Given the description of an element on the screen output the (x, y) to click on. 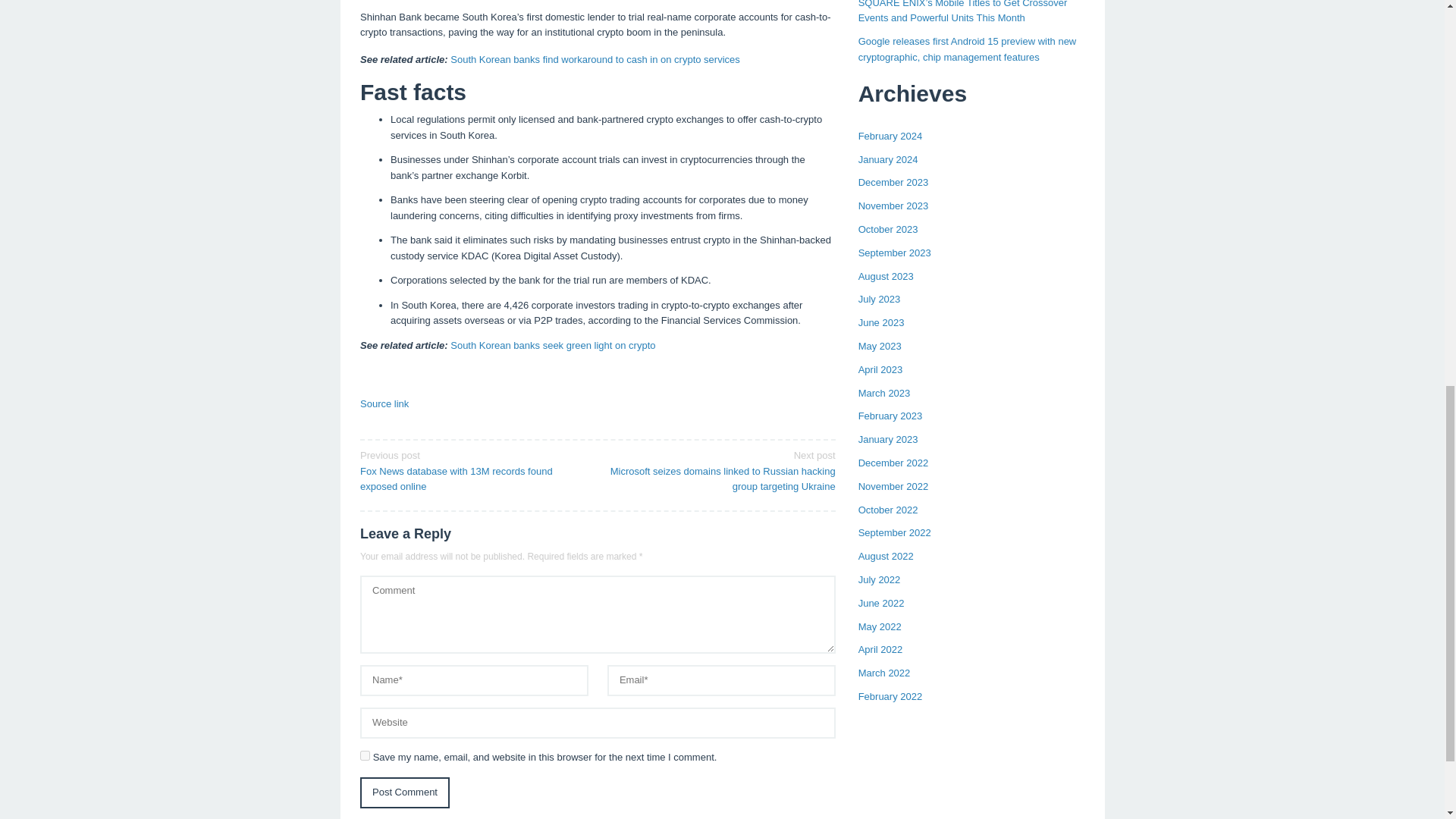
September 2023 (895, 252)
February 2023 (891, 415)
Post Comment (404, 792)
October 2023 (888, 229)
May 2023 (880, 346)
January 2023 (888, 439)
November 2023 (893, 205)
December 2022 (893, 462)
December 2023 (893, 182)
April 2023 (880, 369)
January 2024 (888, 159)
yes (364, 755)
